Given the description of an element on the screen output the (x, y) to click on. 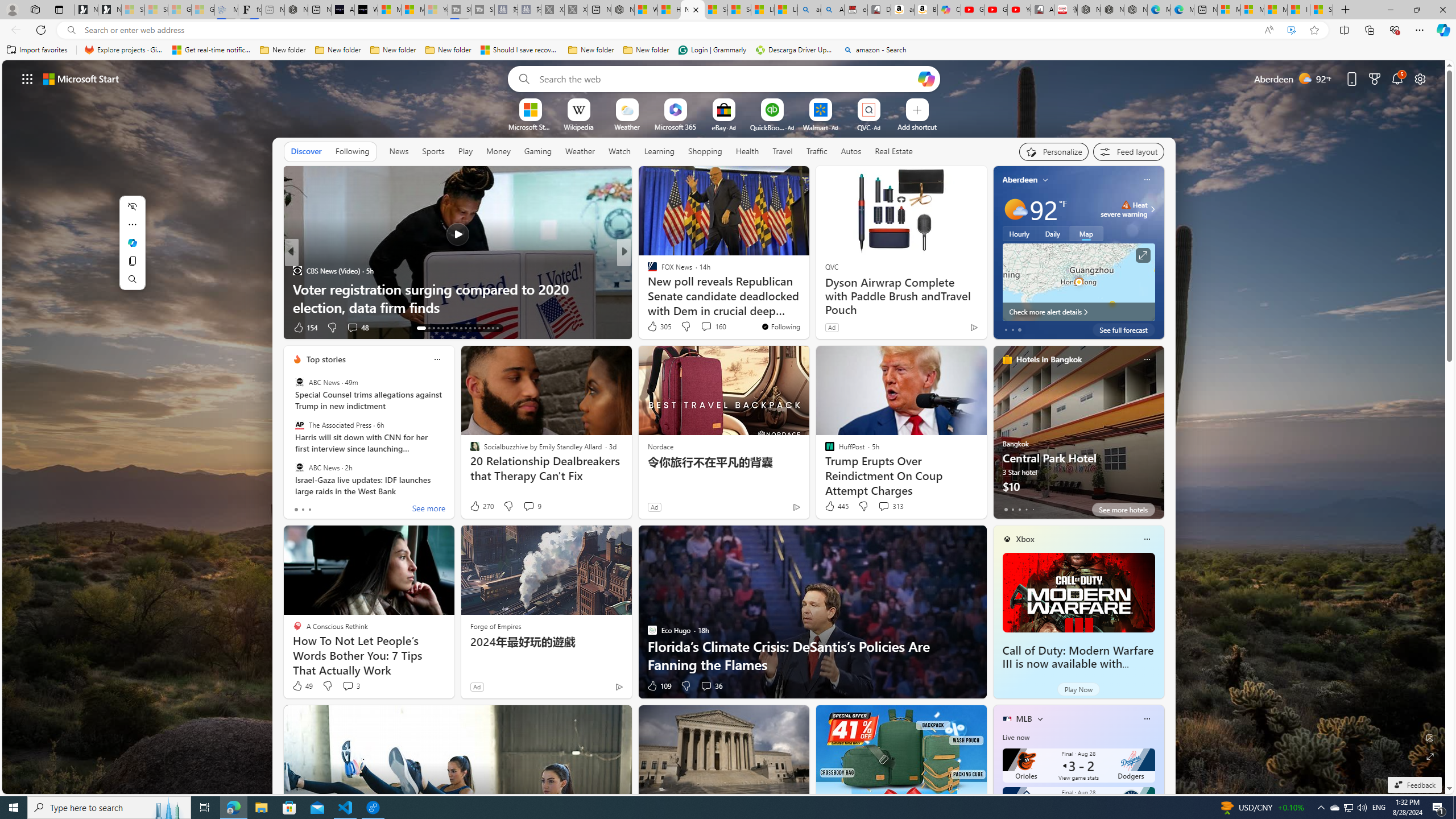
18 Reasons Why Men Get Crankier As They Age (457, 307)
tab-3 (1025, 509)
Should I save recovered Word documents? - Microsoft Support (519, 49)
What's the best AI voice generator? - voice.ai (365, 9)
AutomationID: tab-16 (438, 328)
Newsletter Sign Up (109, 9)
AutomationID: tab-42 (492, 328)
Copy (132, 261)
Copilot (Ctrl+Shift+.) (1442, 29)
My location (1045, 179)
Heat - Severe Heat severe warning (1123, 208)
